Given the description of an element on the screen output the (x, y) to click on. 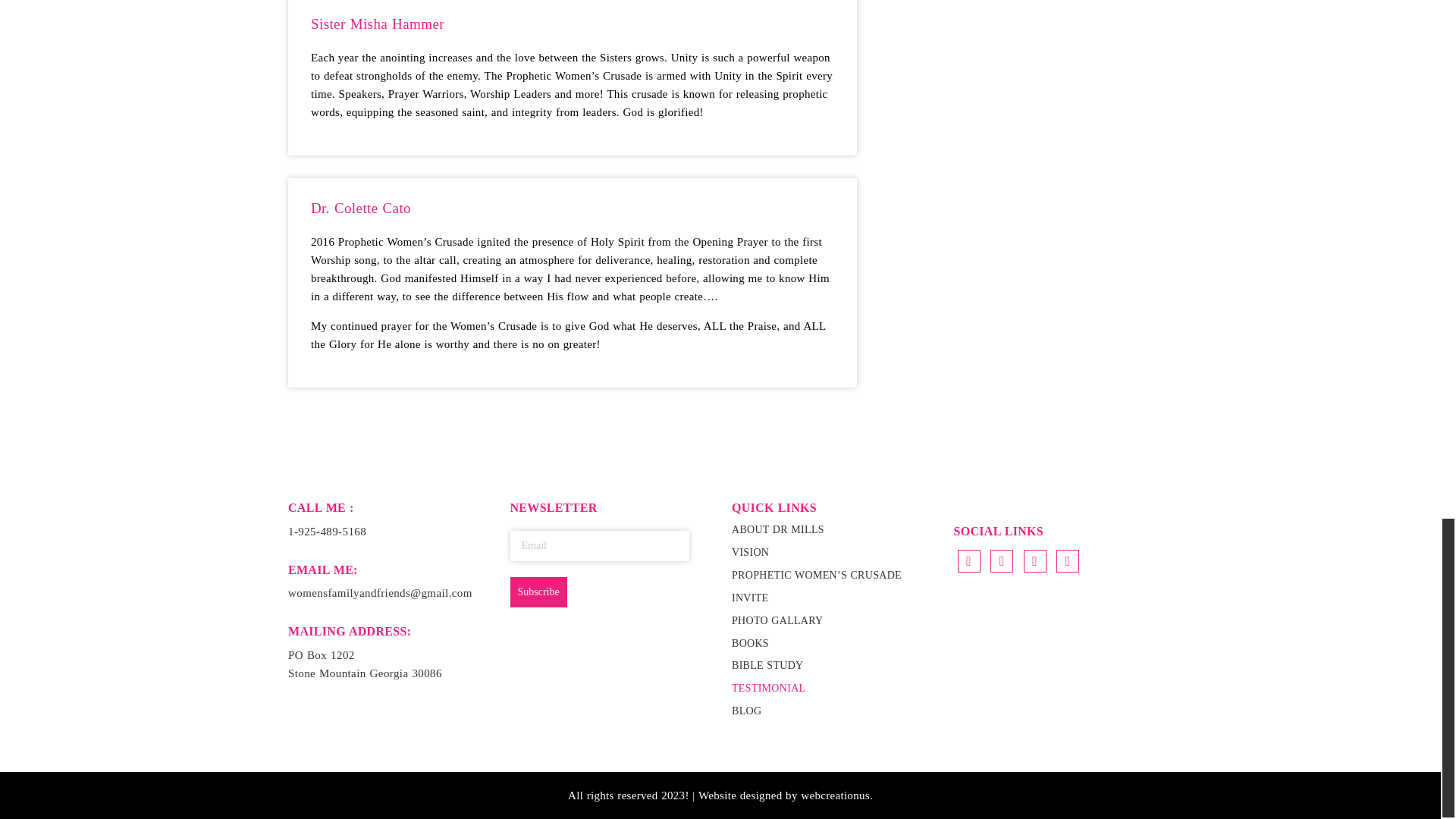
Subscribe (537, 592)
ABOUT DR MILLS (778, 529)
PHOTO GALLARY (778, 620)
INVITE (750, 597)
Subscribe (537, 592)
VISION (750, 552)
1-925-489-5168 (327, 531)
